Given the description of an element on the screen output the (x, y) to click on. 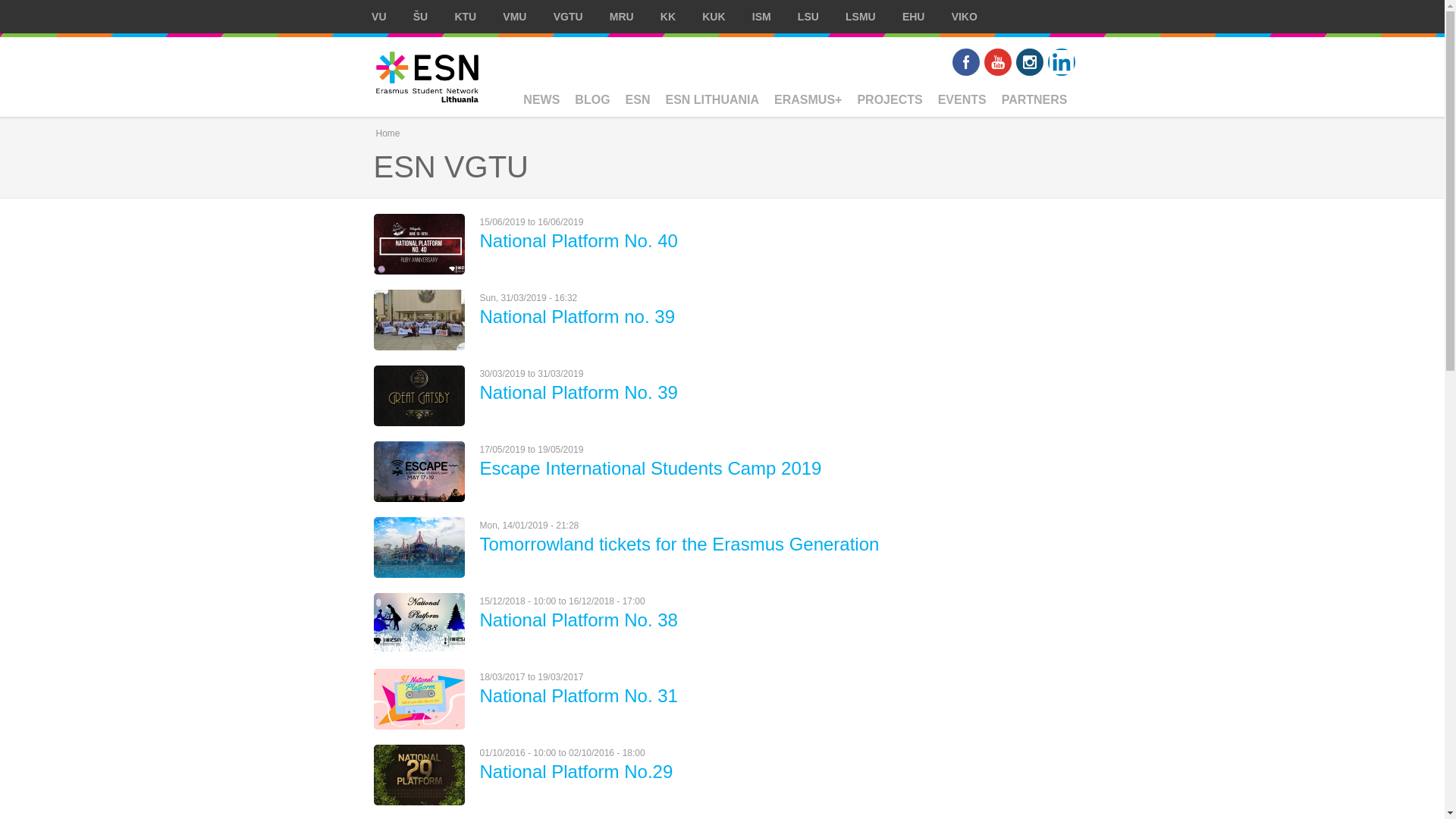
Home (426, 76)
